Given the description of an element on the screen output the (x, y) to click on. 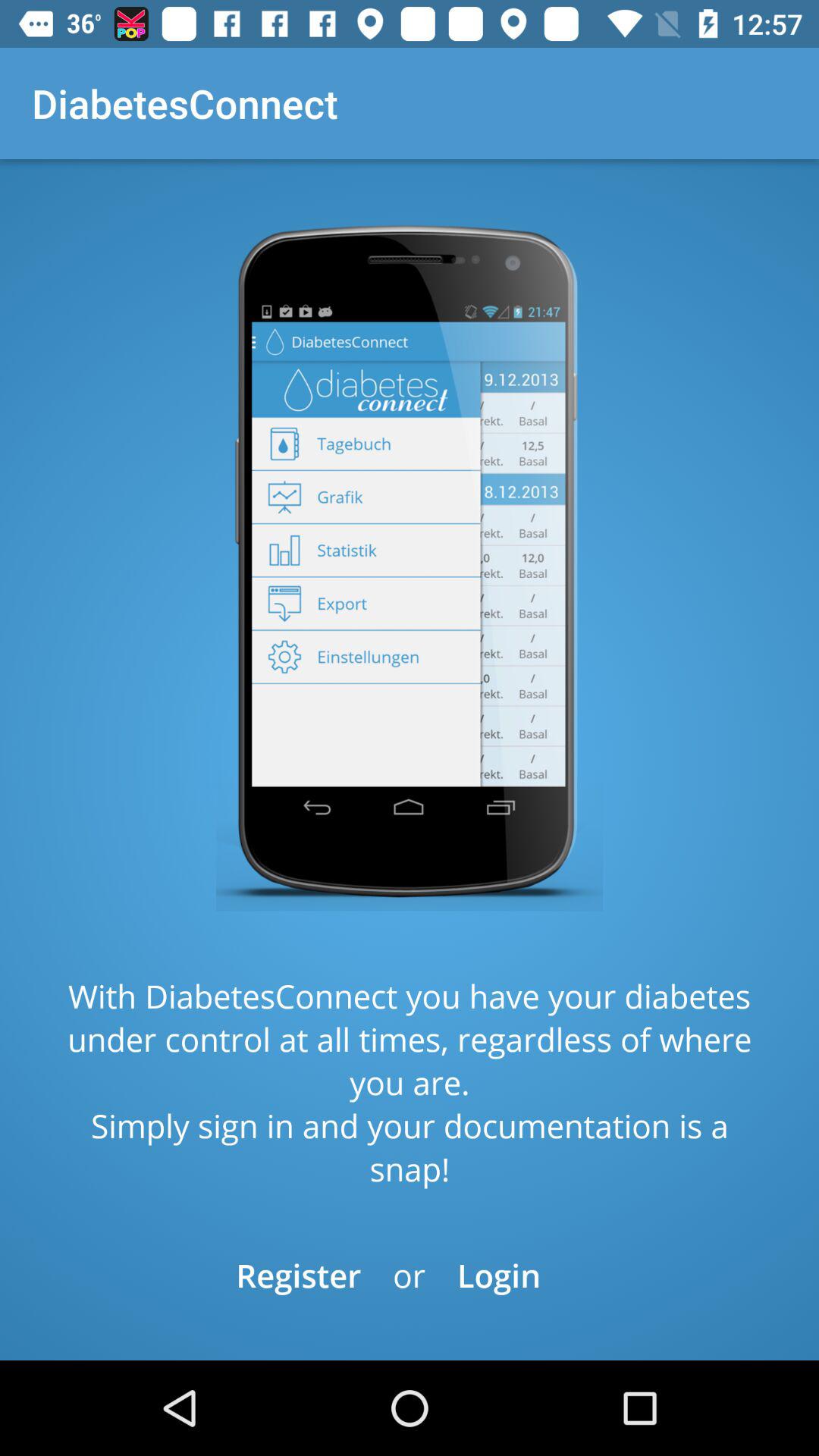
tap register icon (298, 1275)
